Given the description of an element on the screen output the (x, y) to click on. 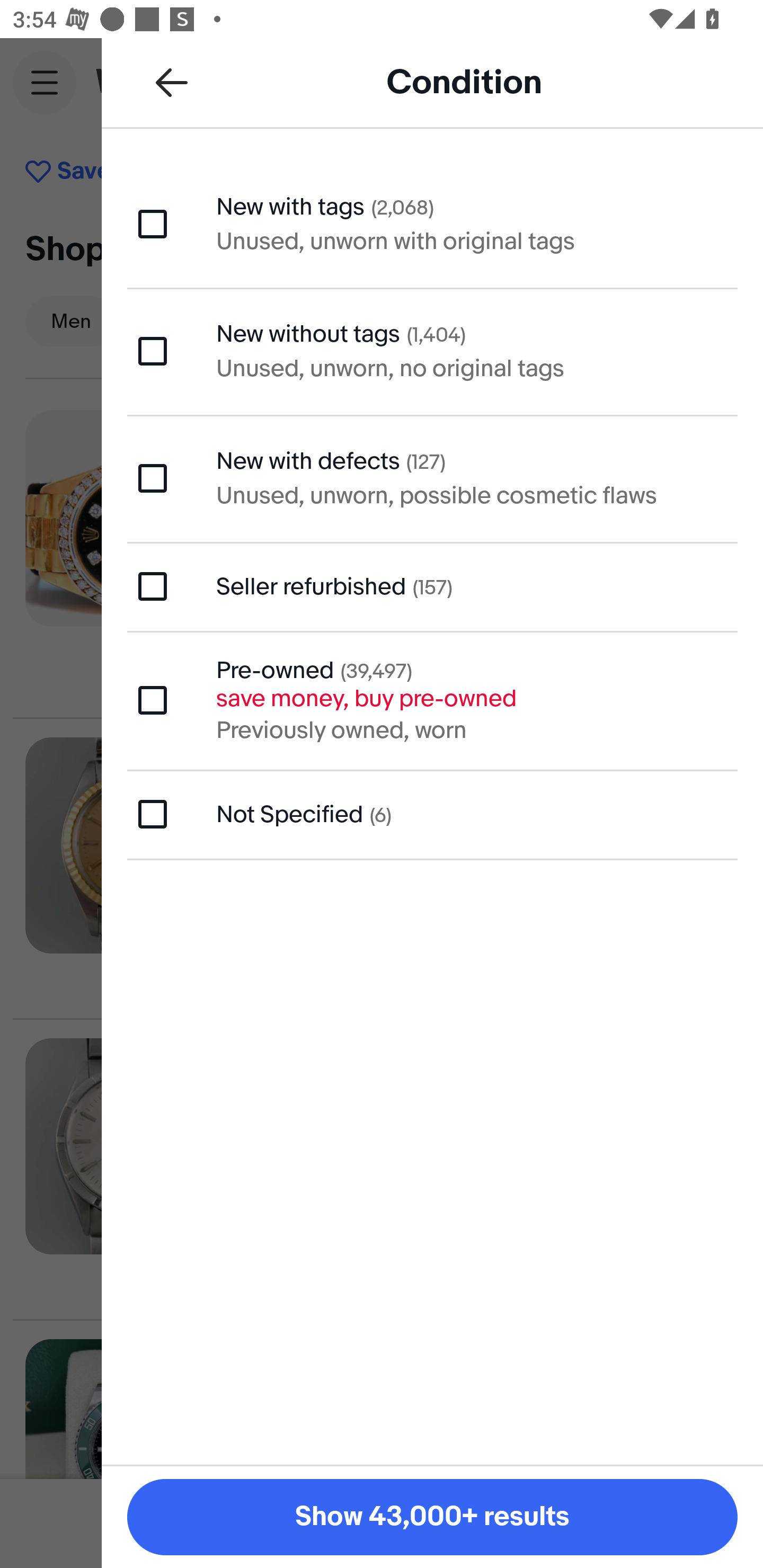
Back to all refinements (171, 81)
Seller refurbished (157) (432, 586)
Not Specified (6) (432, 814)
Show 43,000+ results (432, 1516)
